Given the description of an element on the screen output the (x, y) to click on. 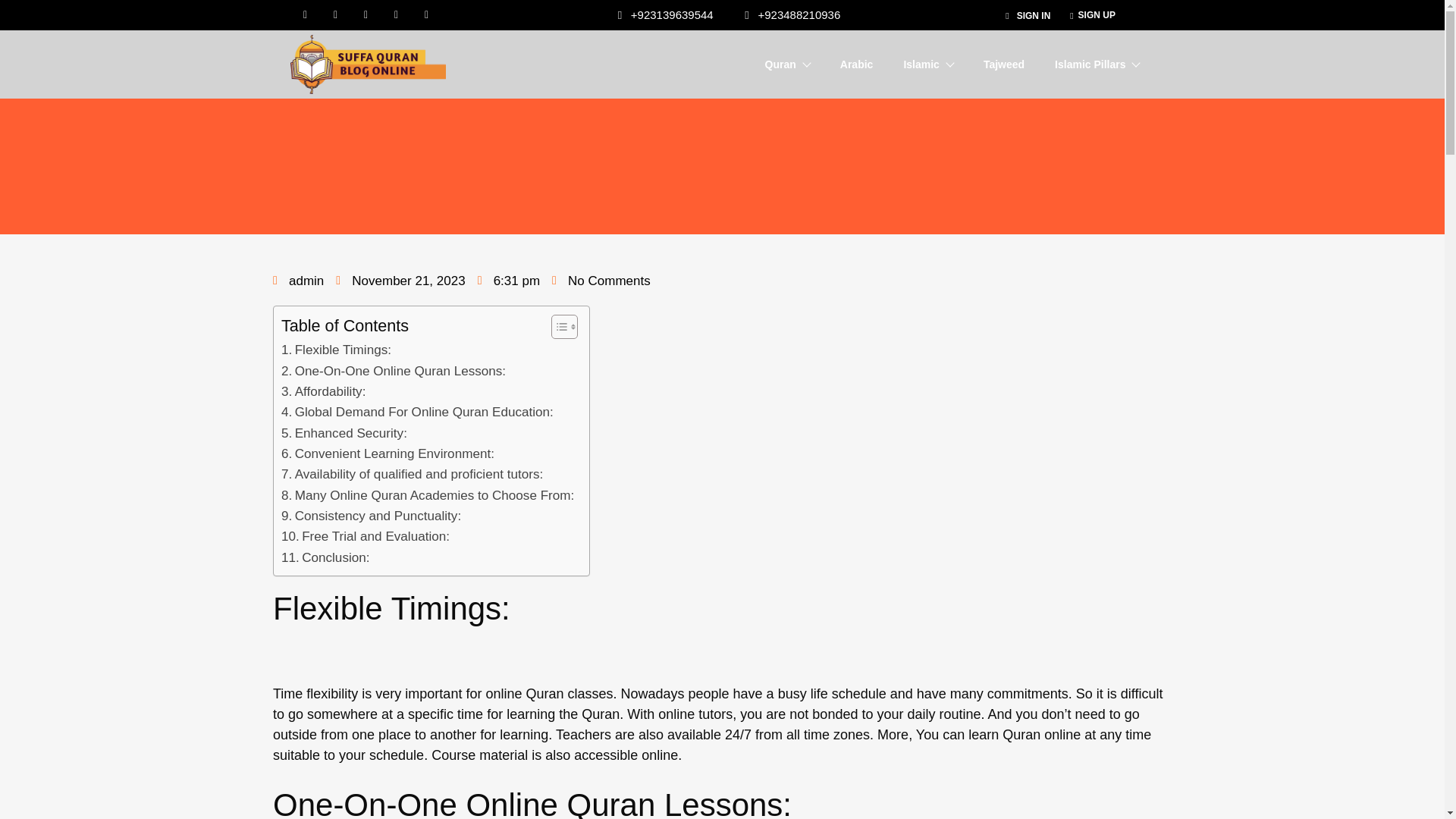
One-On-One Online Quran Lessons: (393, 371)
Quran (786, 64)
SIGN IN (1027, 15)
Many Online Quran Academies to Choose From: (427, 495)
SIGN UP (1092, 14)
Free Trial and Evaluation: (365, 536)
Islamic (927, 64)
Tajweed (1003, 64)
Islamic Pillars (1096, 64)
Availability of qualified and proficient tutors: (412, 474)
